Given the description of an element on the screen output the (x, y) to click on. 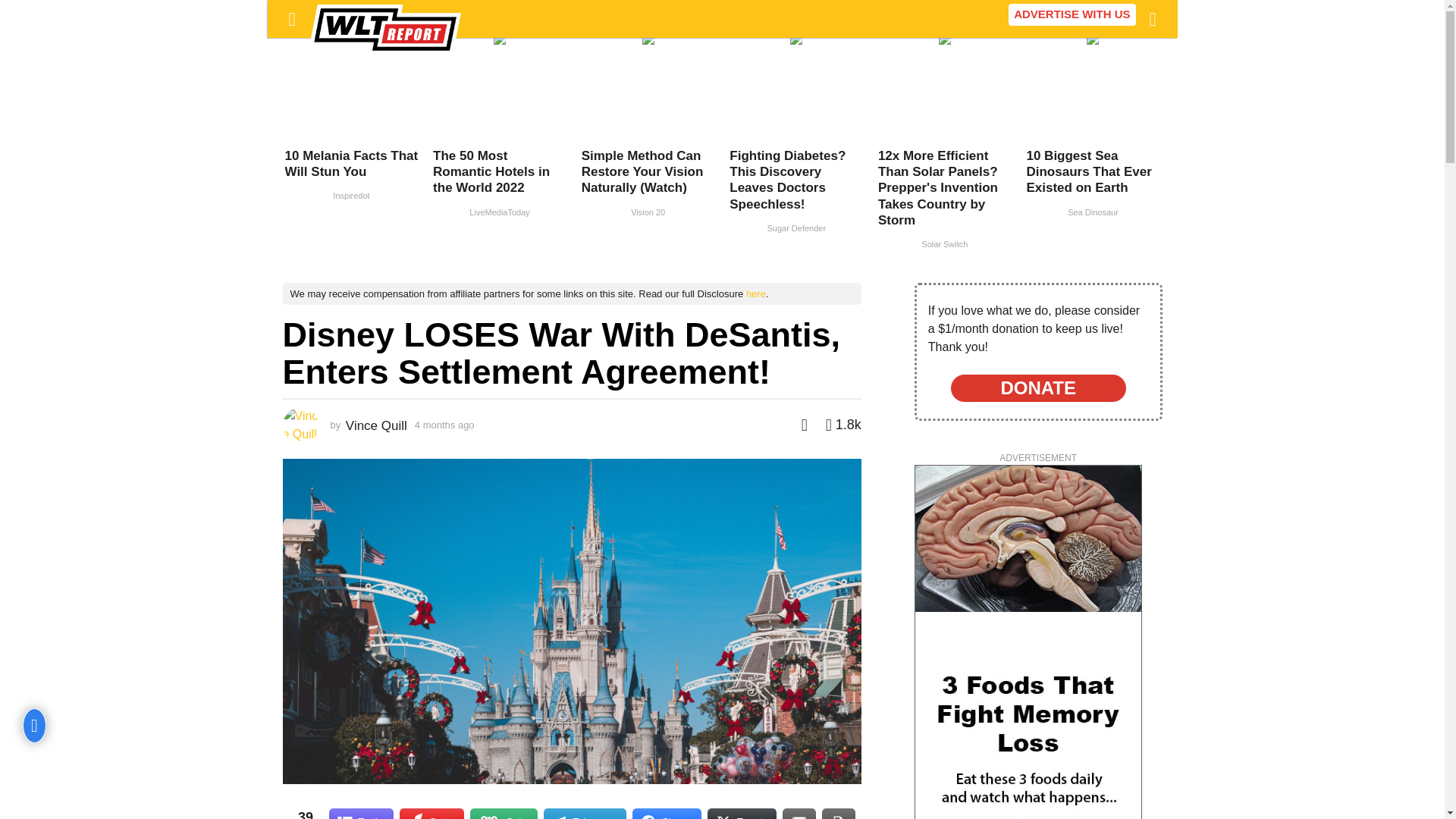
Share on Gab (503, 813)
Share on Tweet (741, 813)
ADVERTISE WITH US (1072, 14)
Share on Telegram (584, 813)
Share on Truth (361, 813)
Share on Gettr (431, 813)
Share on Share (666, 813)
